Given the description of an element on the screen output the (x, y) to click on. 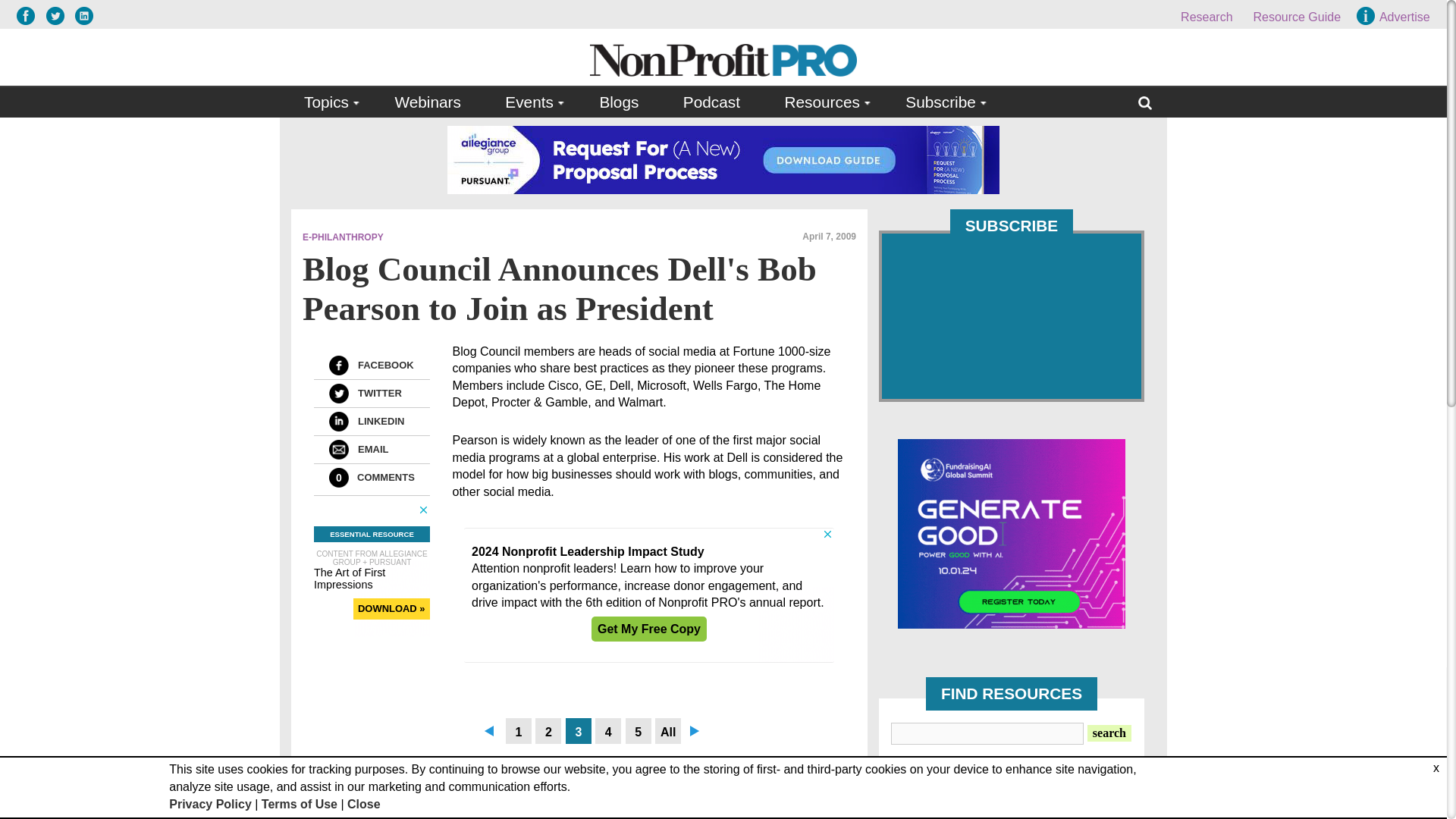
LinkedIn (339, 421)
3rd party ad content (649, 594)
Opens in a new window (58, 15)
search (1109, 733)
Email Link (339, 449)
Resource Guide (1296, 16)
Research (1205, 16)
Opens in a new window (84, 15)
3rd party ad content (1011, 533)
Advertise (1395, 16)
Opens in a new window (29, 15)
Topics (327, 101)
3rd party ad content (722, 160)
Facebook (339, 365)
Twitter (339, 393)
